Given the description of an element on the screen output the (x, y) to click on. 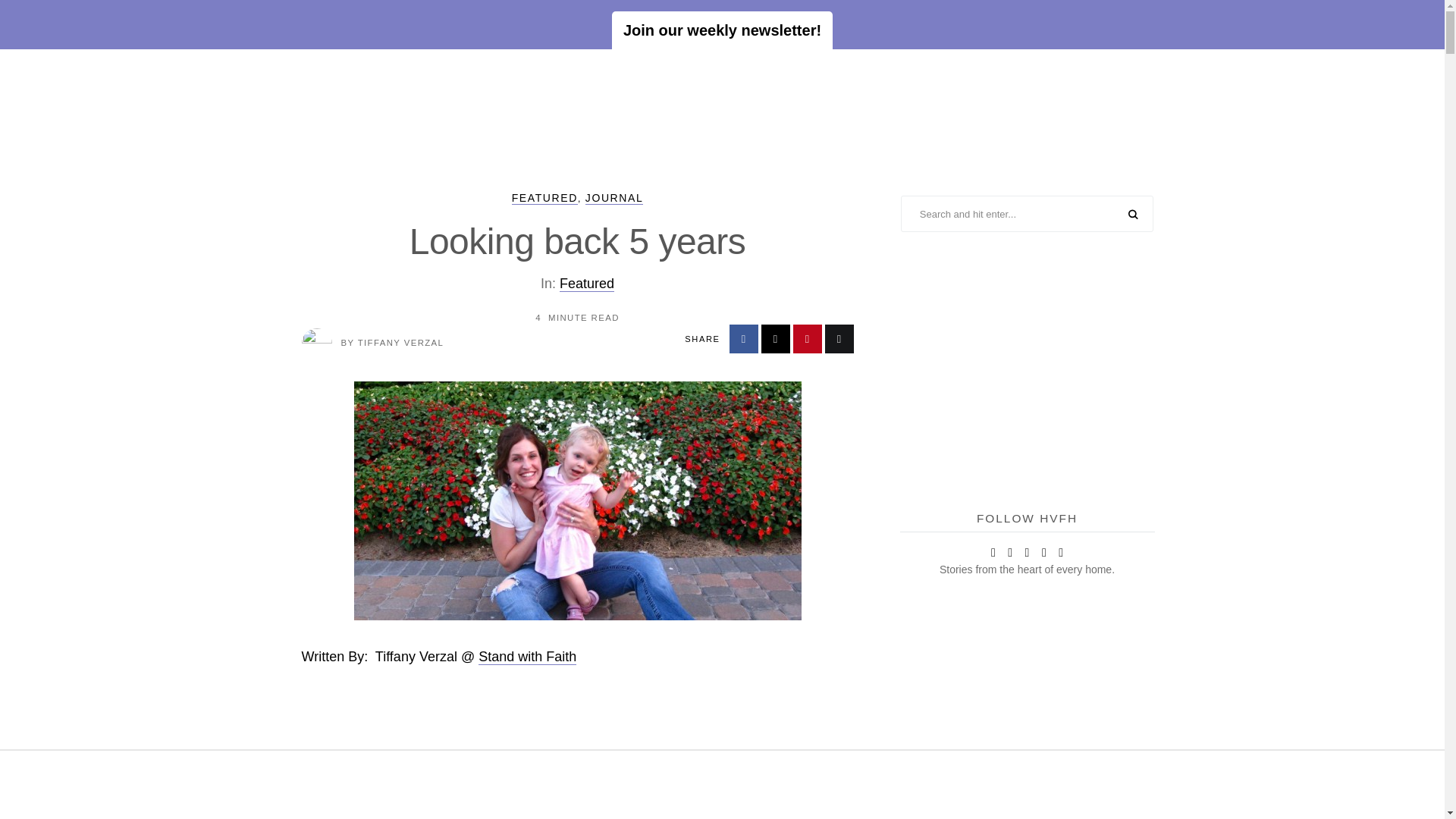
Share on Pinterest (807, 338)
Share by Email (839, 338)
Share on X (775, 338)
SEARCH (1133, 214)
Share on Facebook (743, 338)
